Given the description of an element on the screen output the (x, y) to click on. 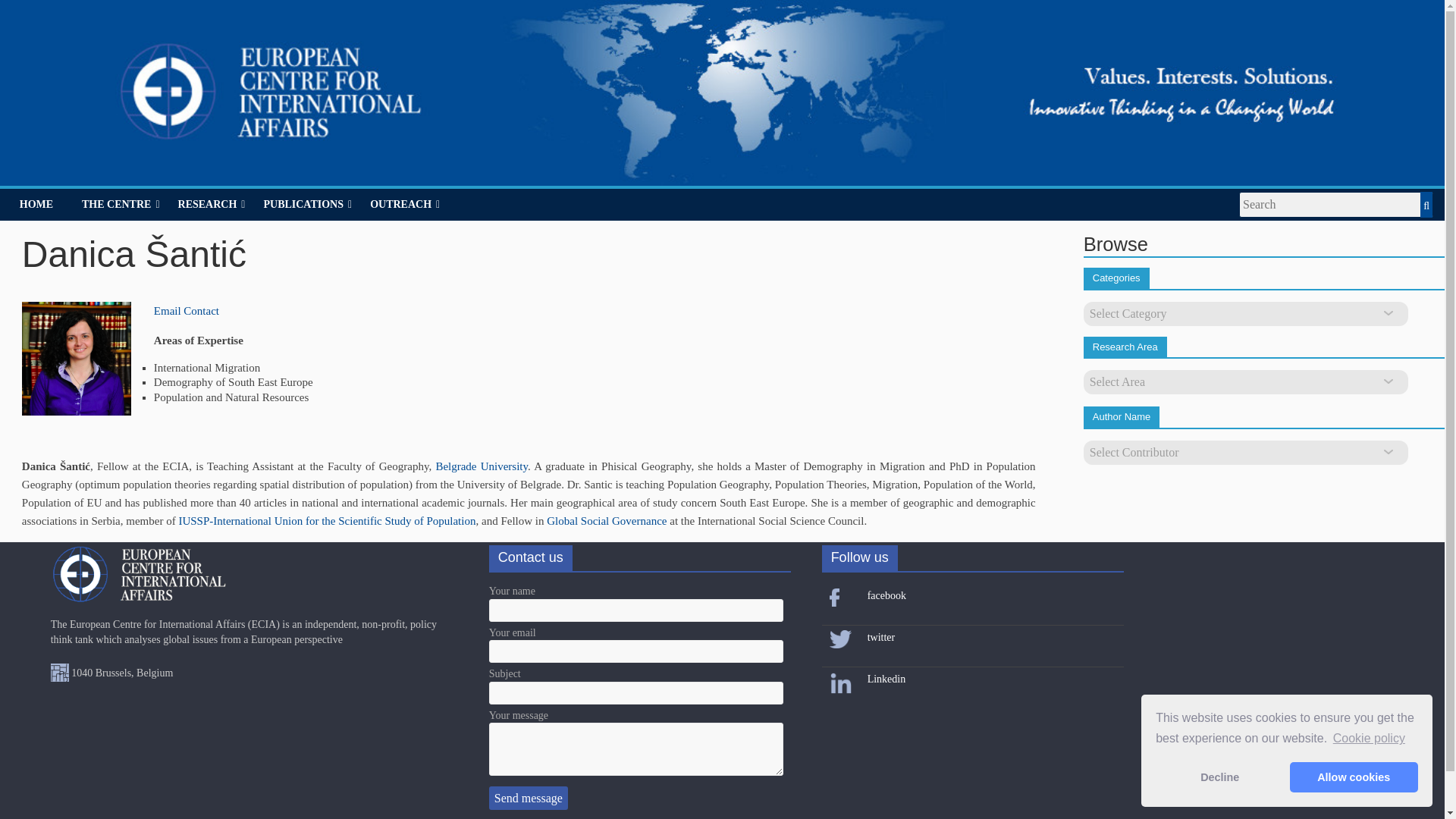
OUTREACH (404, 204)
facebook (886, 595)
Email Contact (186, 310)
HOME (36, 204)
Reserved area (660, 818)
Send message (528, 798)
THE CENTRE (120, 204)
Decline (1220, 777)
twitter (881, 636)
Allow cookies (1354, 777)
Belgrade University (481, 466)
Linkedin (886, 678)
Privacy Policy (501, 818)
PUBLICATIONS (307, 204)
